Given the description of an element on the screen output the (x, y) to click on. 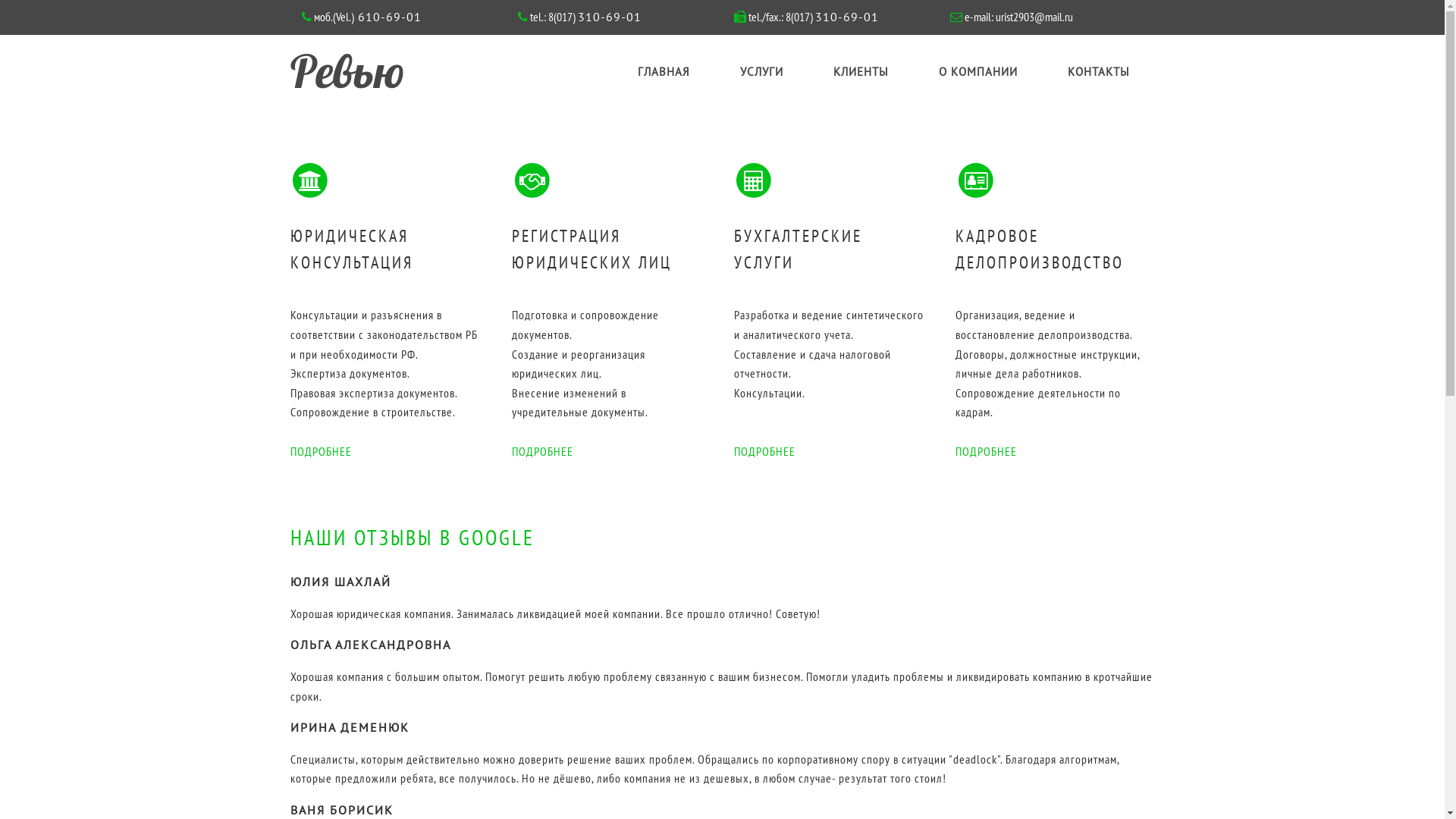
610-69-01 Element type: text (386, 16)
310-69-01 Element type: text (609, 16)
310-69-01 Element type: text (846, 16)
